Given the description of an element on the screen output the (x, y) to click on. 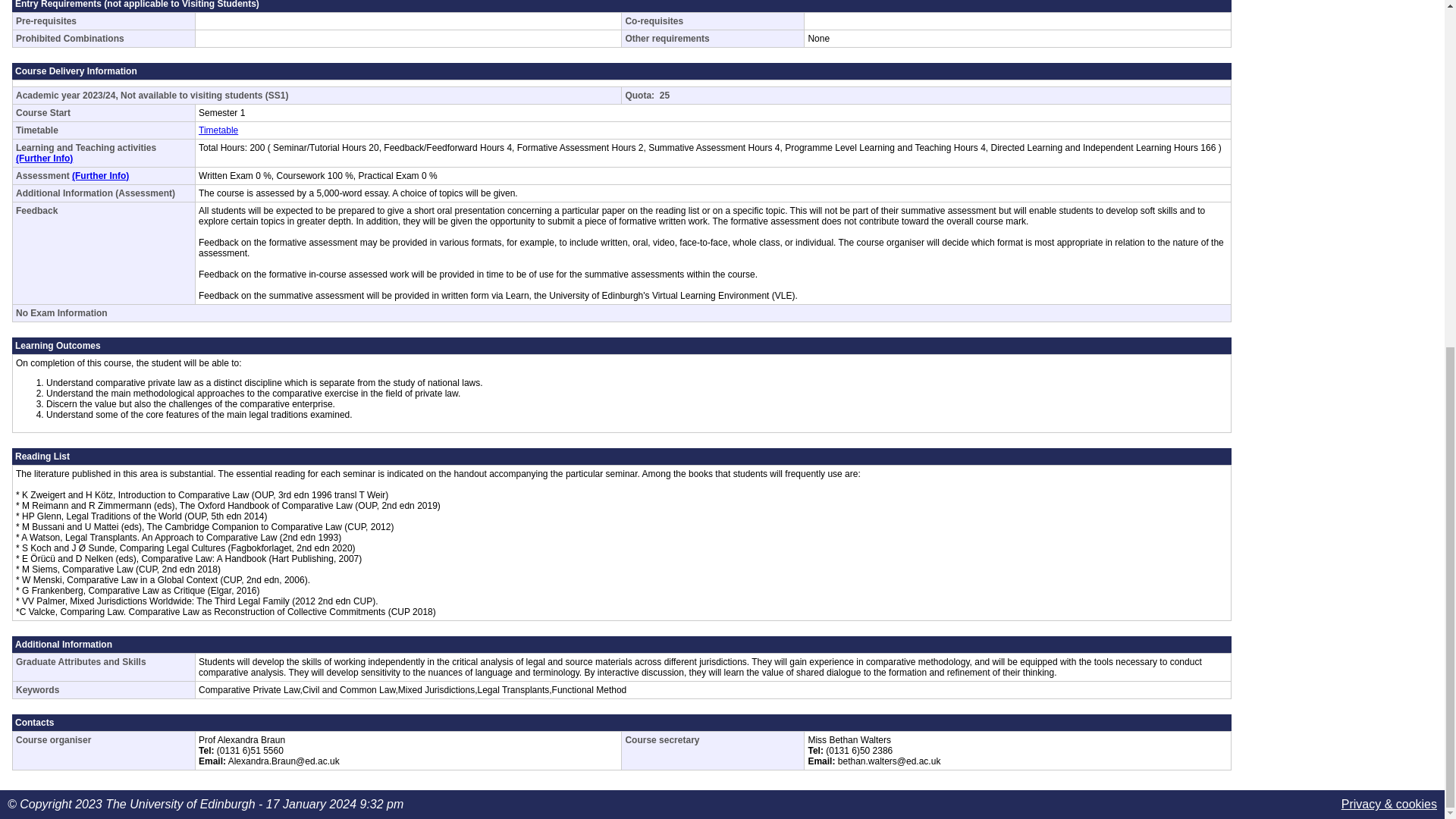
Timetable (218, 130)
